Given the description of an element on the screen output the (x, y) to click on. 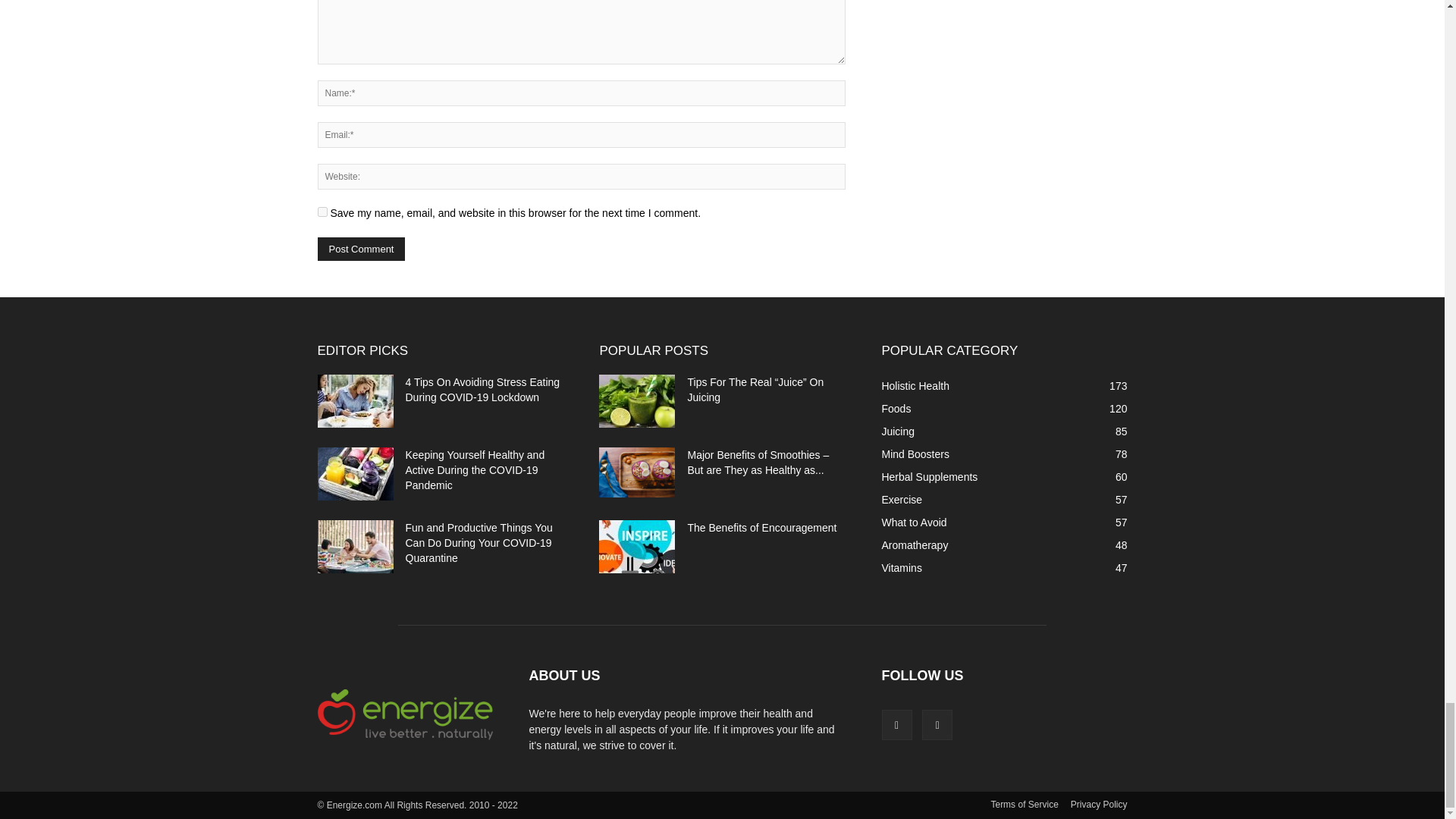
Post Comment (360, 249)
yes (321, 212)
